Given the description of an element on the screen output the (x, y) to click on. 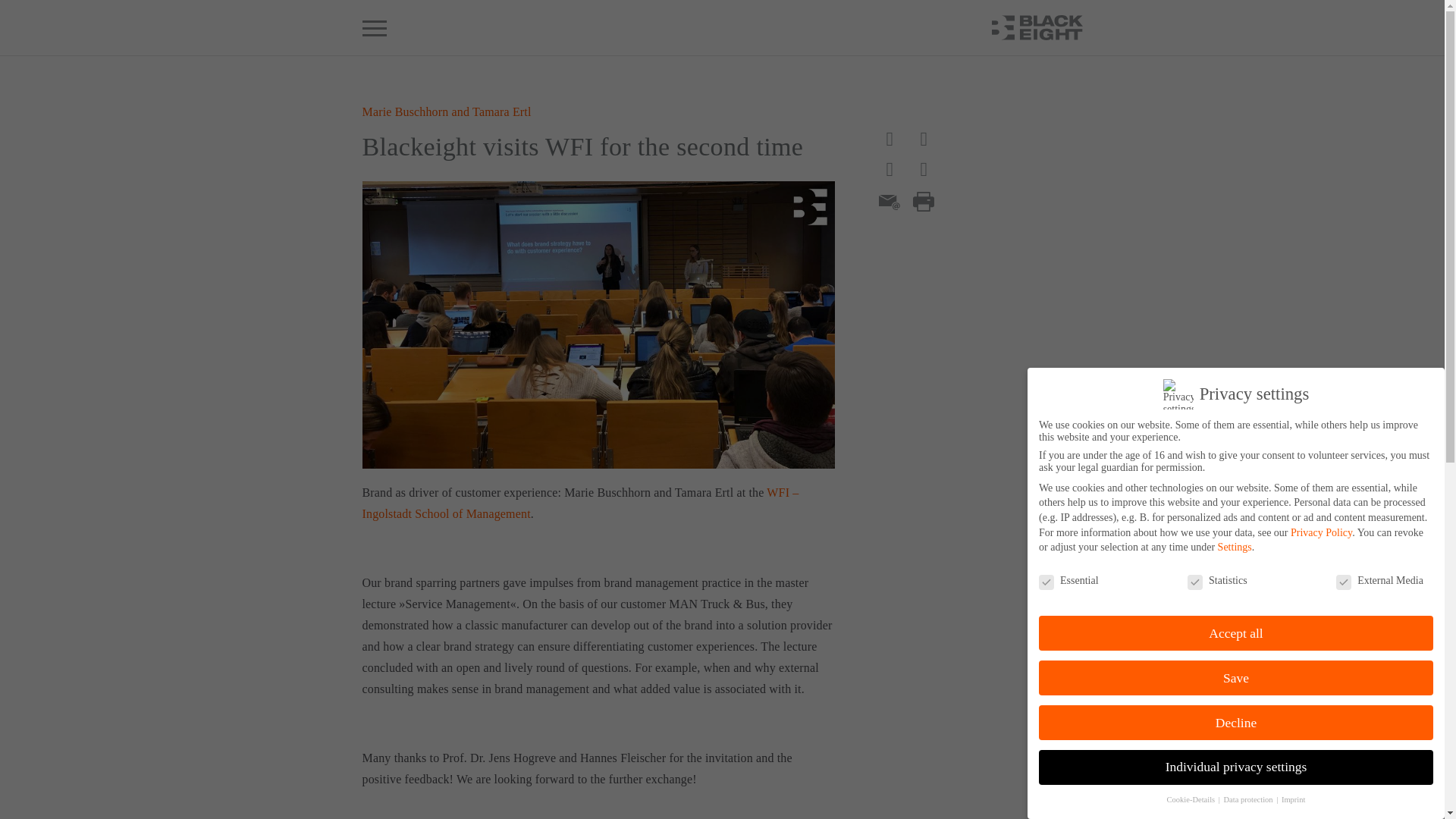
Marie Buschhorn (405, 111)
Tamara Ertl (501, 111)
Posts by Marie Buschhorn (405, 111)
Settings (1234, 546)
Click to view the navigation (374, 28)
Posts by Tamara Ertl (501, 111)
Privacy Policy (1321, 531)
